Given the description of an element on the screen output the (x, y) to click on. 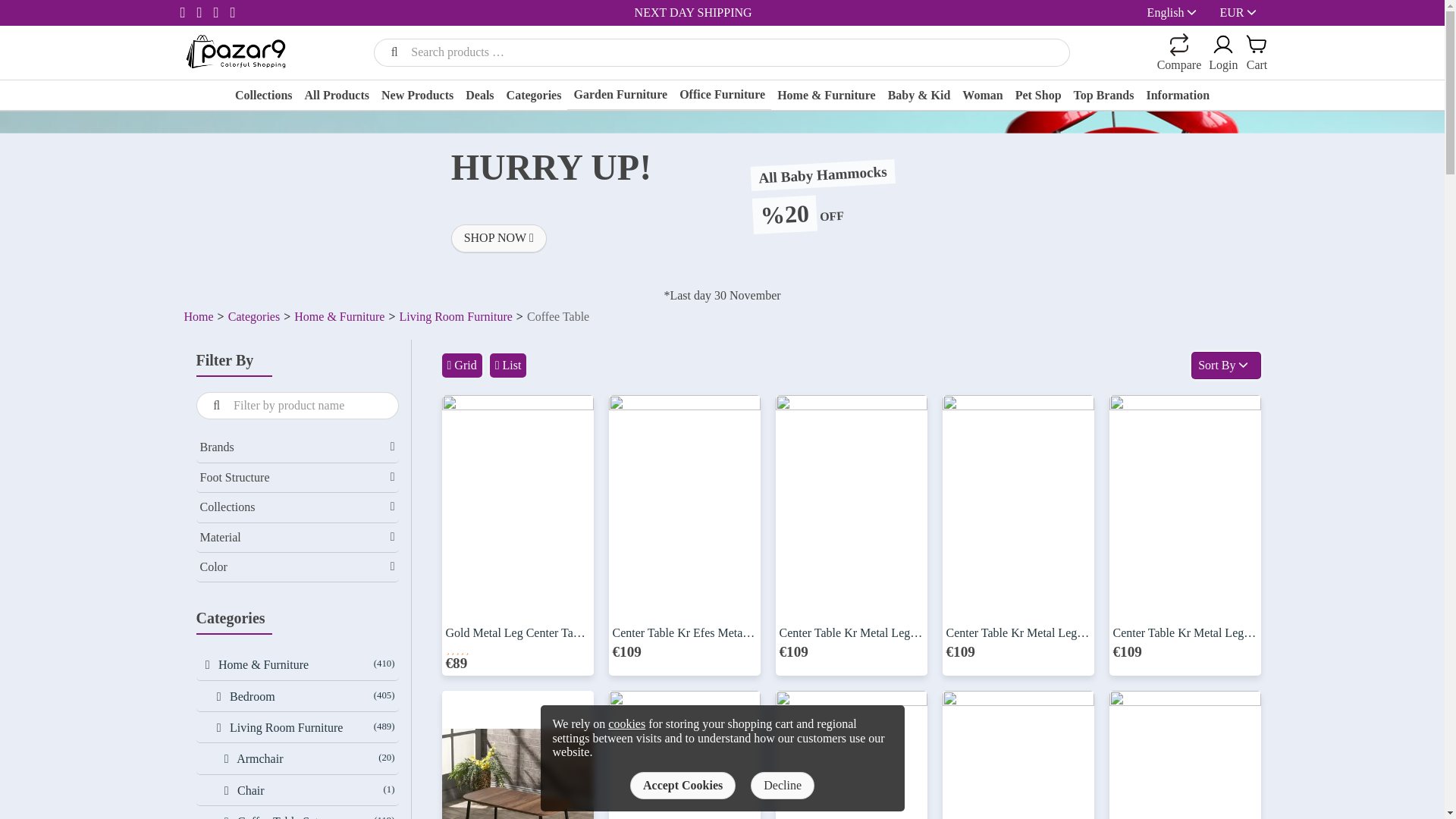
English (1166, 11)
cookies (626, 723)
EUR (1231, 11)
Center Table Metal Leg Ellipse Black Marble Pattern (684, 755)
Collections (263, 97)
Center Table Metal Leg Ellipse Cream (1184, 755)
Login (1122, 189)
Accept Cookies (682, 785)
Decline (782, 785)
Pazar9 (234, 50)
EUR (1244, 11)
Compare (1179, 52)
Center Table Metal Leg Ellipse White (850, 755)
English (1177, 11)
Center Table Walnut Metal Leg Kr (516, 755)
